Given the description of an element on the screen output the (x, y) to click on. 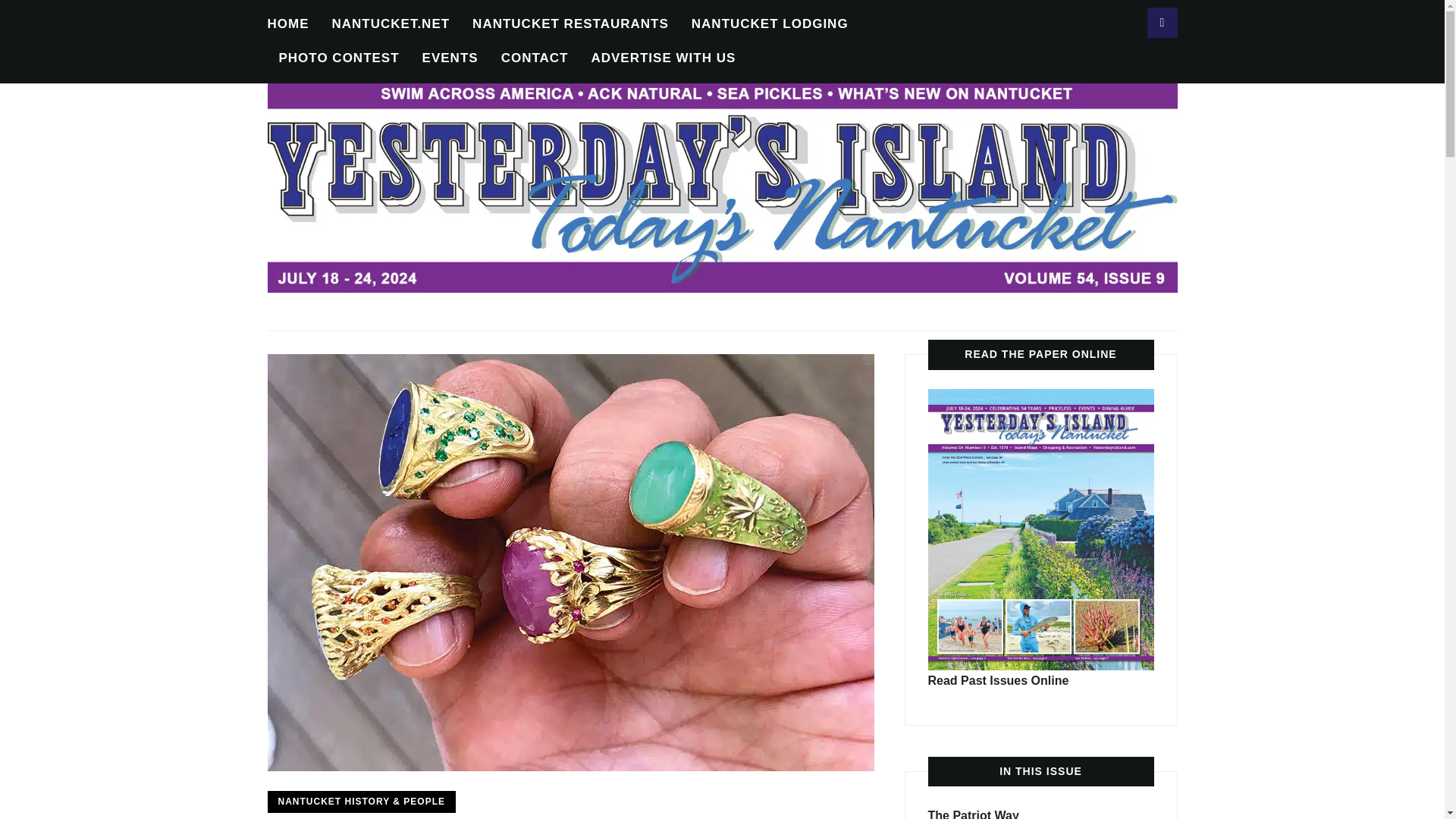
ADVERTISE WITH US (663, 58)
EVENTS (450, 58)
NANTUCKET RESTAURANTS (569, 24)
NANTUCKET.NET (390, 24)
CONTACT (534, 58)
Search (1161, 22)
PHOTO CONTEST (338, 58)
HOME (287, 24)
NANTUCKET LODGING (769, 24)
